Given the description of an element on the screen output the (x, y) to click on. 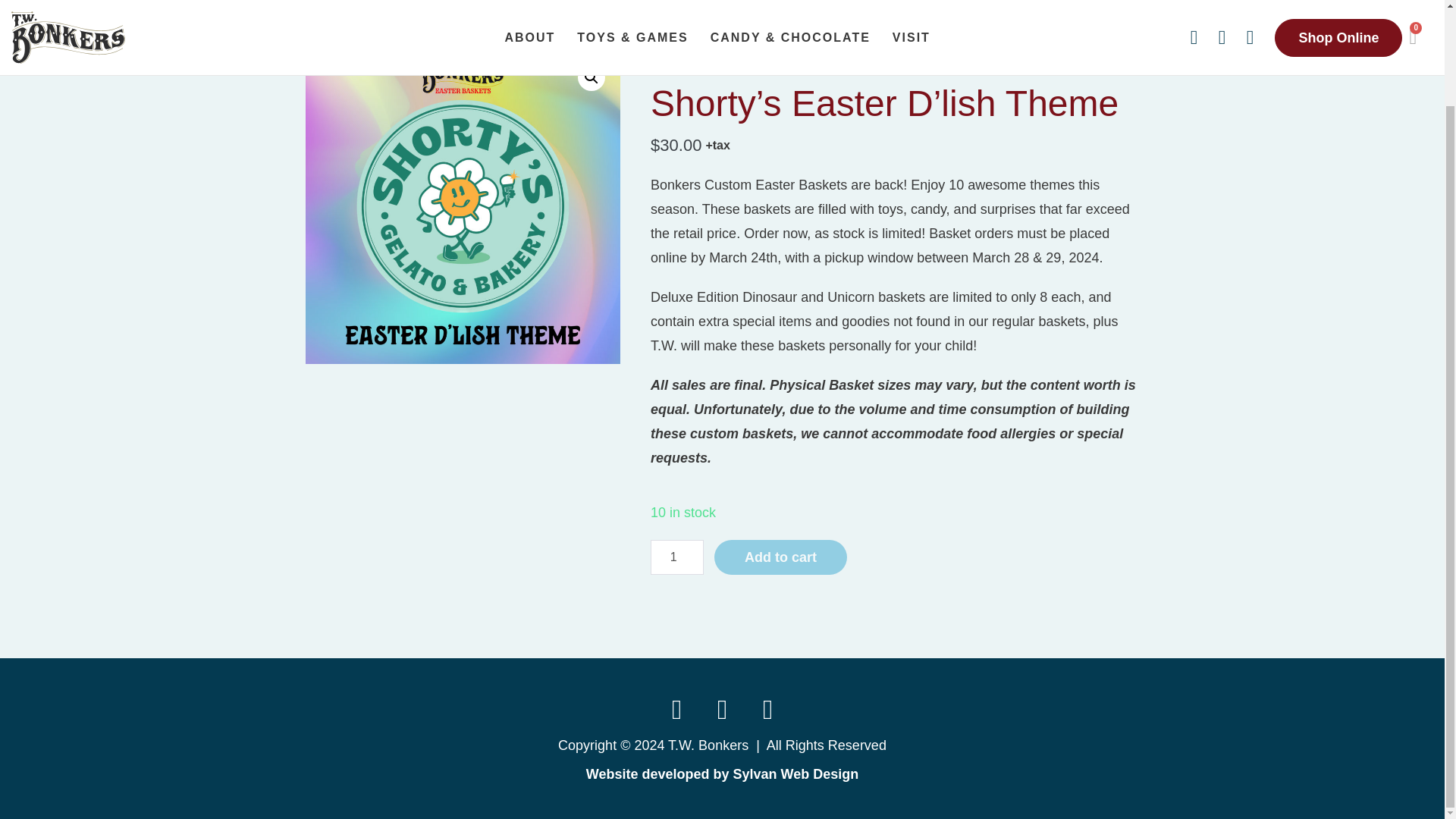
Add to cart (780, 556)
shortys-easter-dlish (462, 205)
Home (664, 53)
Easter Baskets (722, 53)
1 (676, 556)
